Given the description of an element on the screen output the (x, y) to click on. 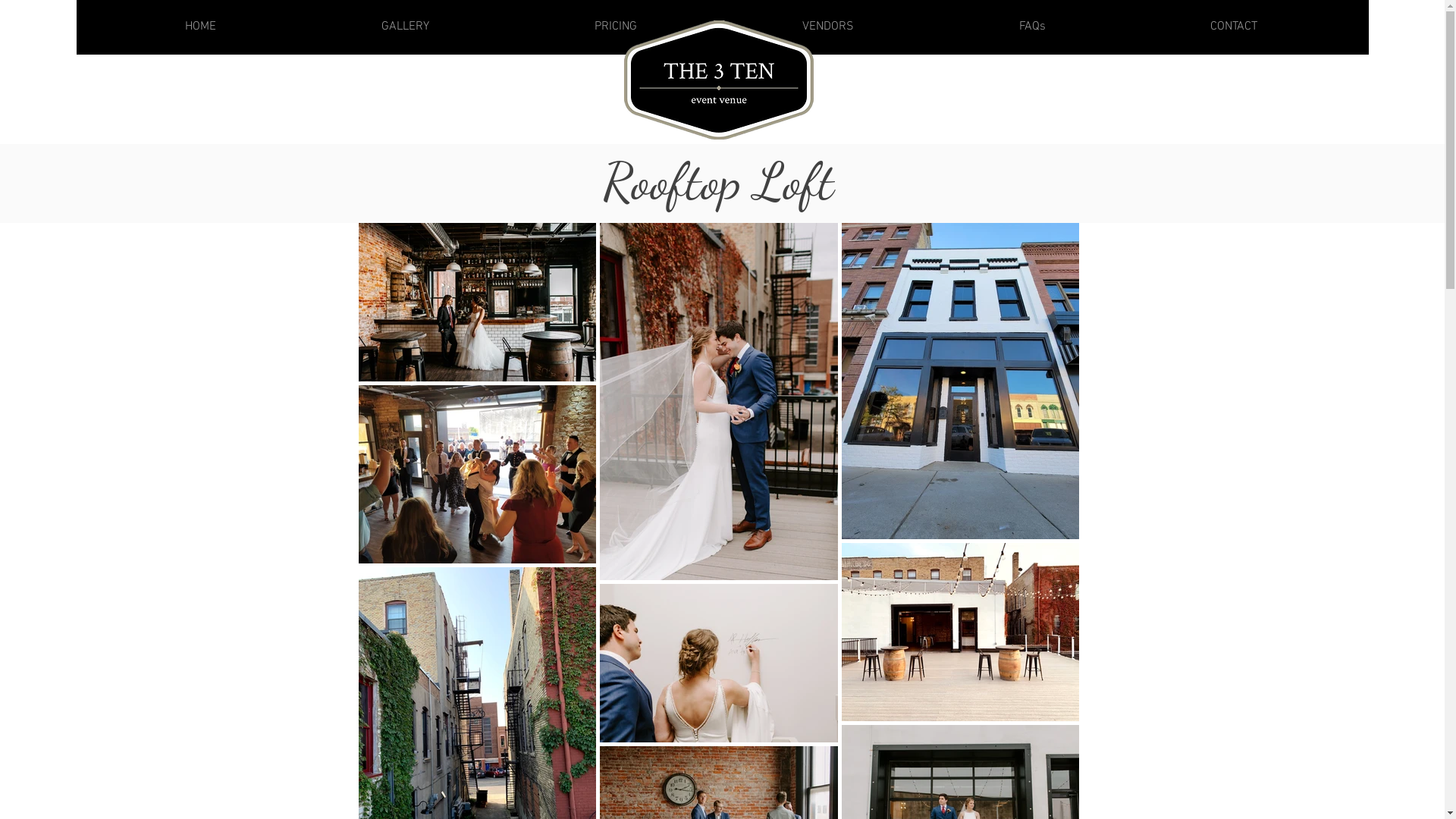
FAQs Element type: text (1031, 26)
CONTACT Element type: text (1233, 26)
HOME Element type: text (199, 26)
